Given the description of an element on the screen output the (x, y) to click on. 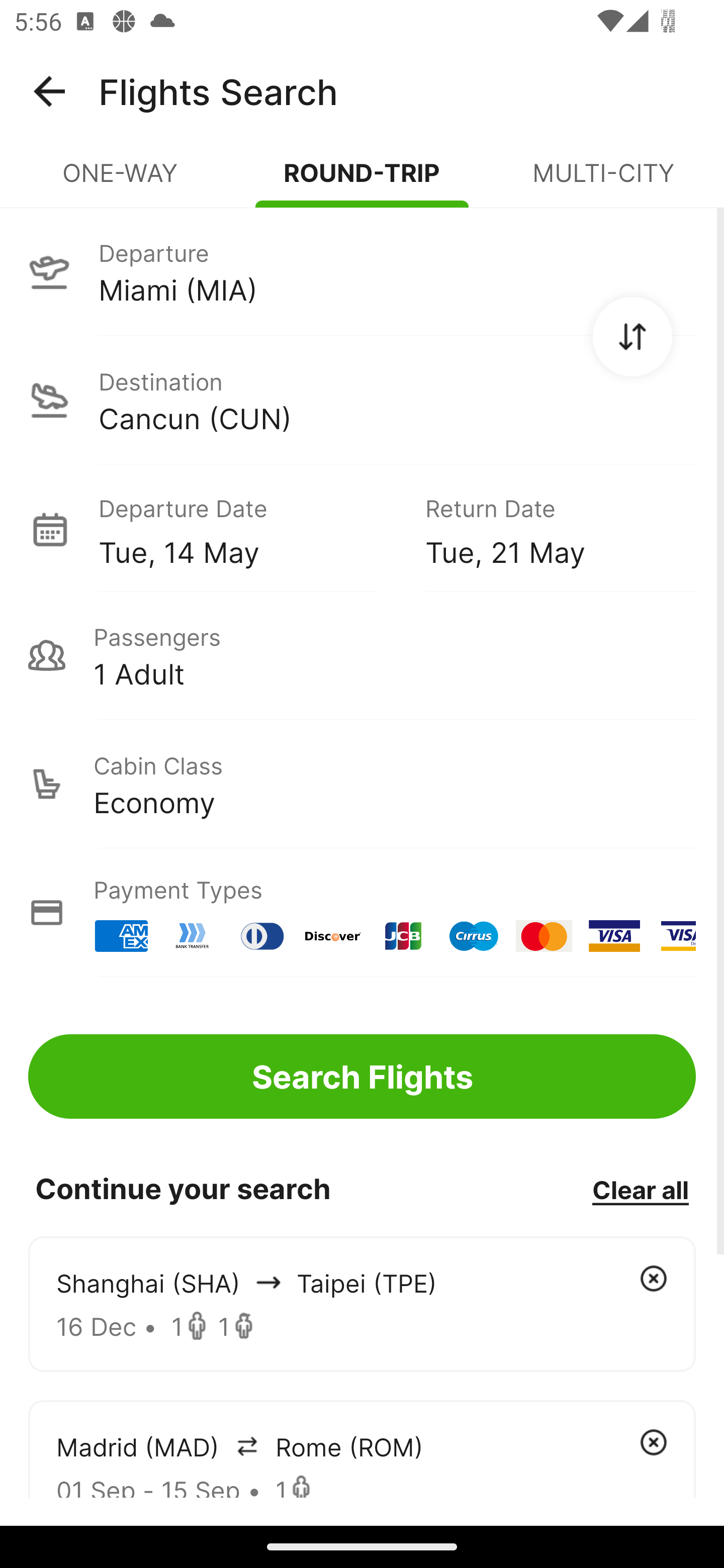
ONE-WAY (120, 180)
ROUND-TRIP (361, 180)
MULTI-CITY (603, 180)
Departure Miami (MIA) (362, 270)
Destination Cancun (CUN) (362, 400)
Departure Date Tue, 14 May (247, 528)
Return Date Tue, 21 May (546, 528)
Passengers 1 Adult (362, 655)
Cabin Class Economy (362, 783)
Payment Types (362, 912)
Search Flights (361, 1075)
Clear all (640, 1189)
